Given the description of an element on the screen output the (x, y) to click on. 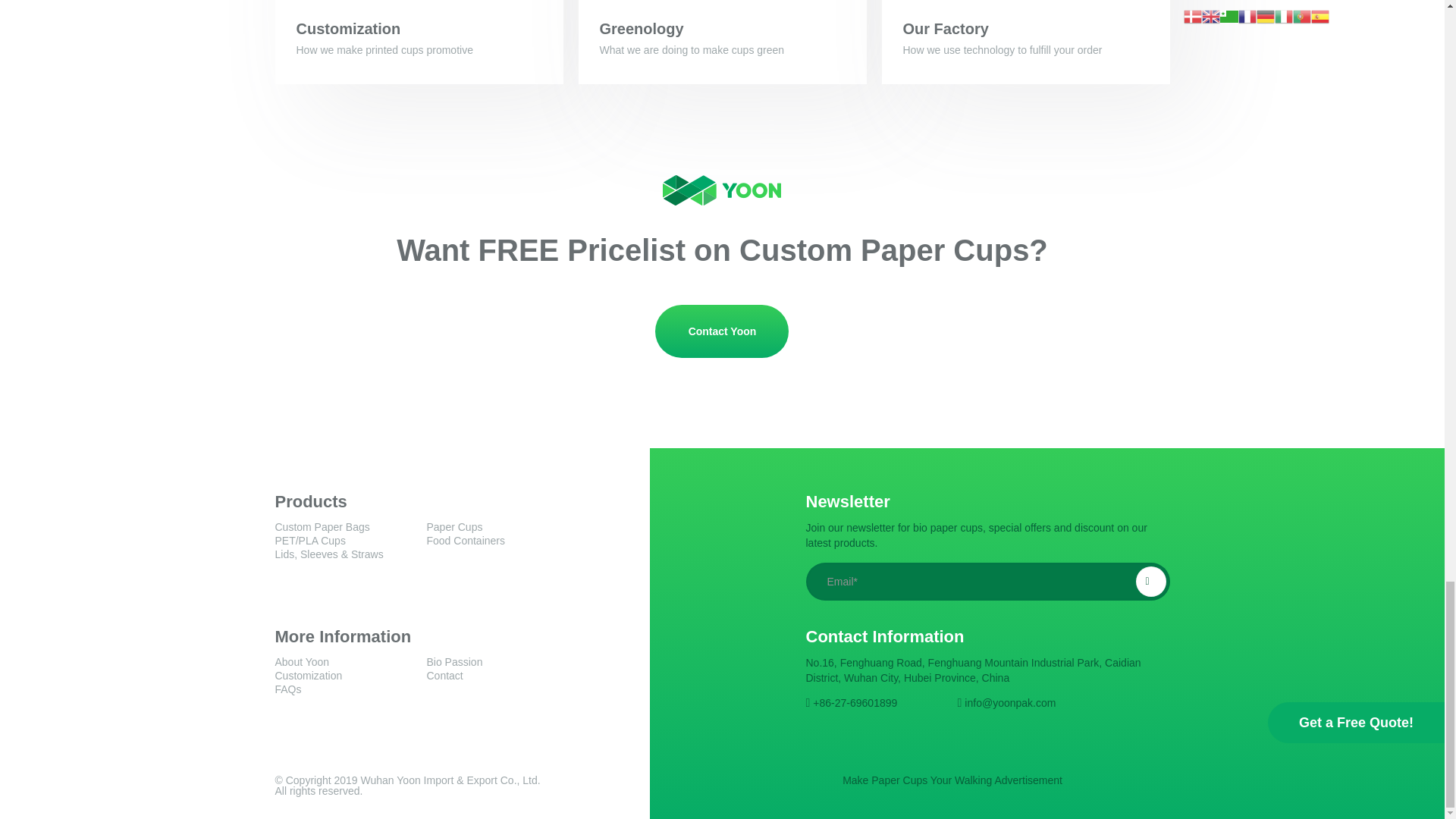
Paper Cups (453, 526)
Send (1150, 581)
Bio Passion (453, 662)
About Yoon (302, 662)
Custom Paper Bags (322, 526)
Contact (444, 675)
Customization (308, 675)
Food Containers (465, 540)
Our Factory (945, 28)
Send (1150, 581)
